Given the description of an element on the screen output the (x, y) to click on. 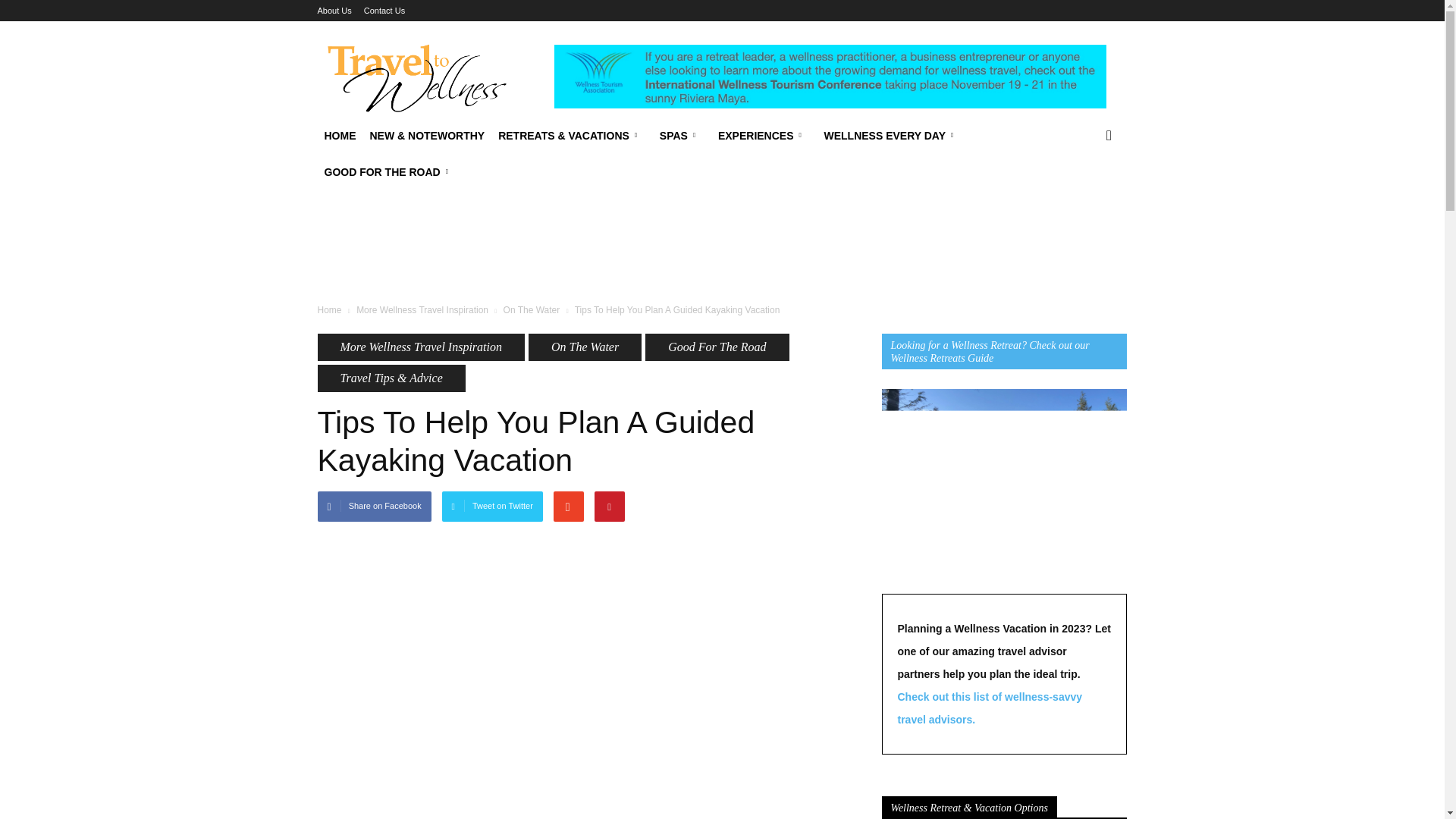
View all posts in More Wellness Travel Inspiration (421, 309)
About Us (333, 10)
HOME (339, 135)
View all posts in On The Water (531, 309)
Contact Us (384, 10)
